Given the description of an element on the screen output the (x, y) to click on. 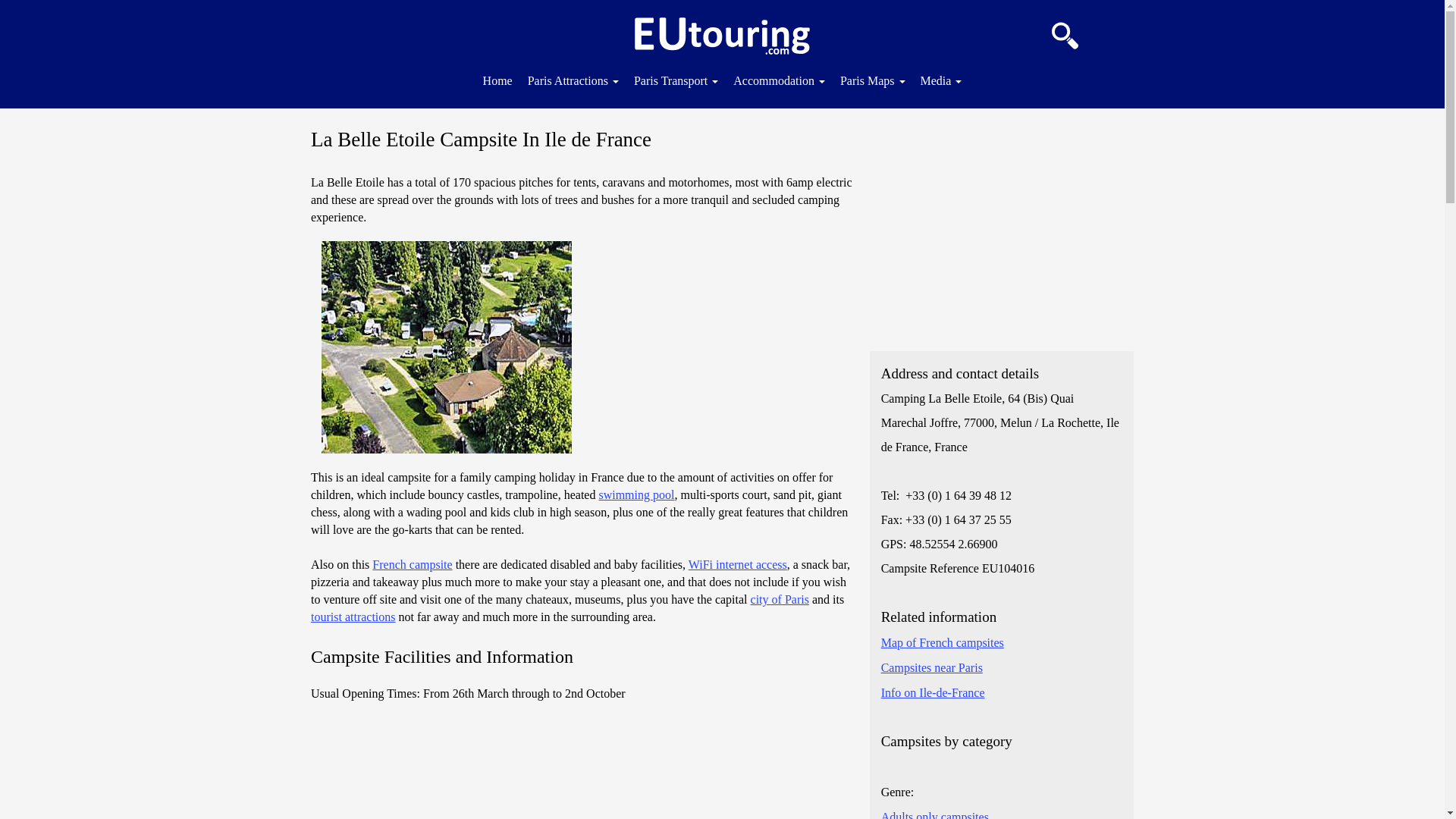
Advertisement (582, 767)
Paris Transport (675, 78)
EUtouring.com Home Page (721, 35)
Home (497, 78)
Advertisement (1001, 229)
EUtouring.com Website Search (1064, 32)
Advertisement (718, 346)
Paris Attractions (572, 78)
